Given the description of an element on the screen output the (x, y) to click on. 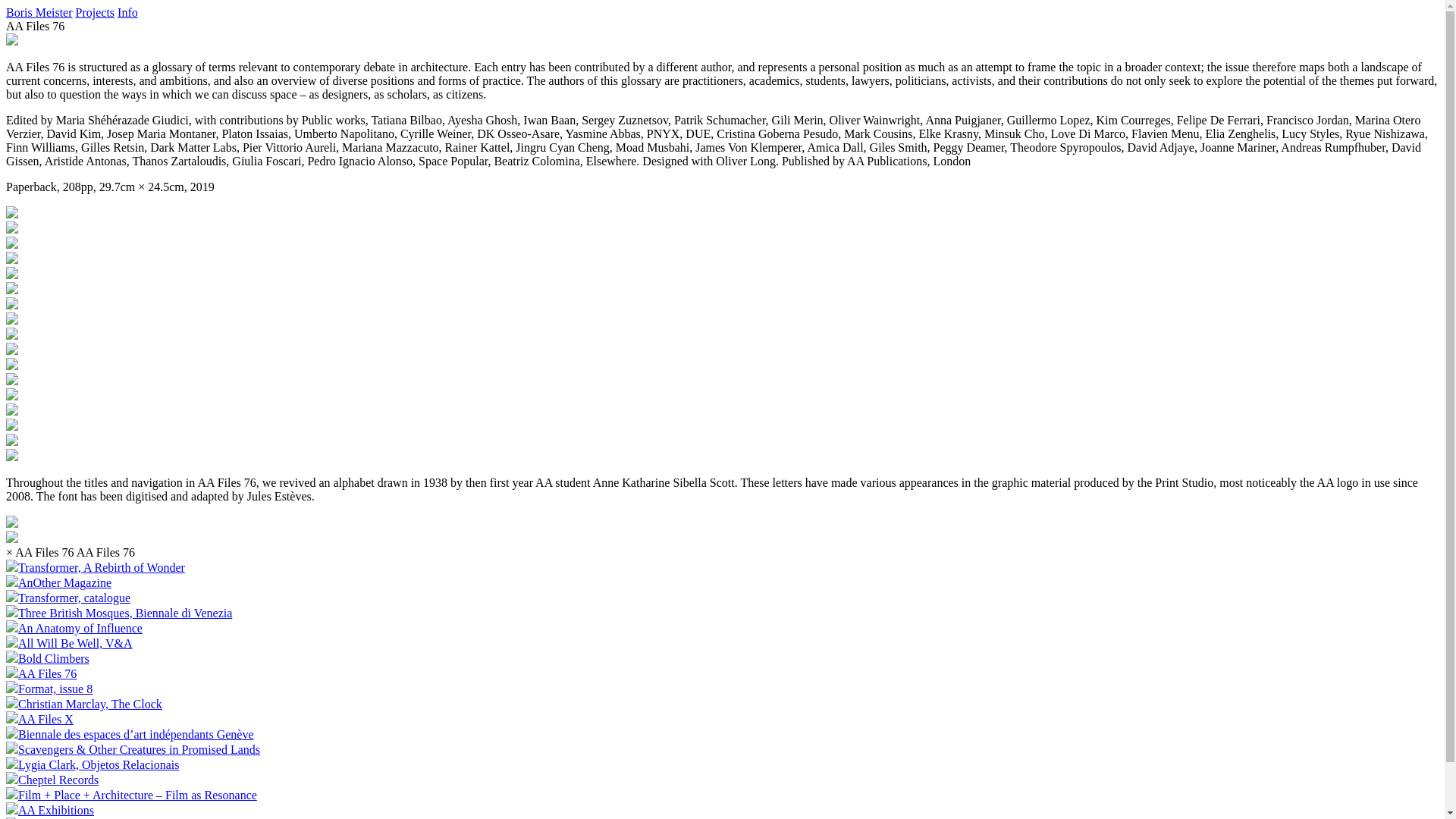
An Anatomy of Influence Element type: text (74, 627)
Cheptel Records Element type: text (52, 779)
AA Exhibitions Element type: text (50, 809)
Christian Marclay, The Clock Element type: text (84, 703)
Projects Element type: text (95, 12)
AnOther Magazine Element type: text (58, 582)
Transformer, A Rebirth of Wonder Element type: text (95, 567)
Scavengers & Other Creatures in Promised Lands Element type: text (133, 749)
Bold Climbers Element type: text (47, 658)
Format, issue 8 Element type: text (49, 688)
AA Files X Element type: text (39, 718)
All Will Be Well, V&A Element type: text (69, 643)
Info Element type: text (127, 12)
Boris Meister Element type: text (39, 12)
Three British Mosques, Biennale di Venezia Element type: text (119, 612)
AA Files 76 Element type: text (41, 673)
Transformer, catalogue Element type: text (68, 597)
Lygia Clark, Objetos Relacionais Element type: text (92, 764)
